Given the description of an element on the screen output the (x, y) to click on. 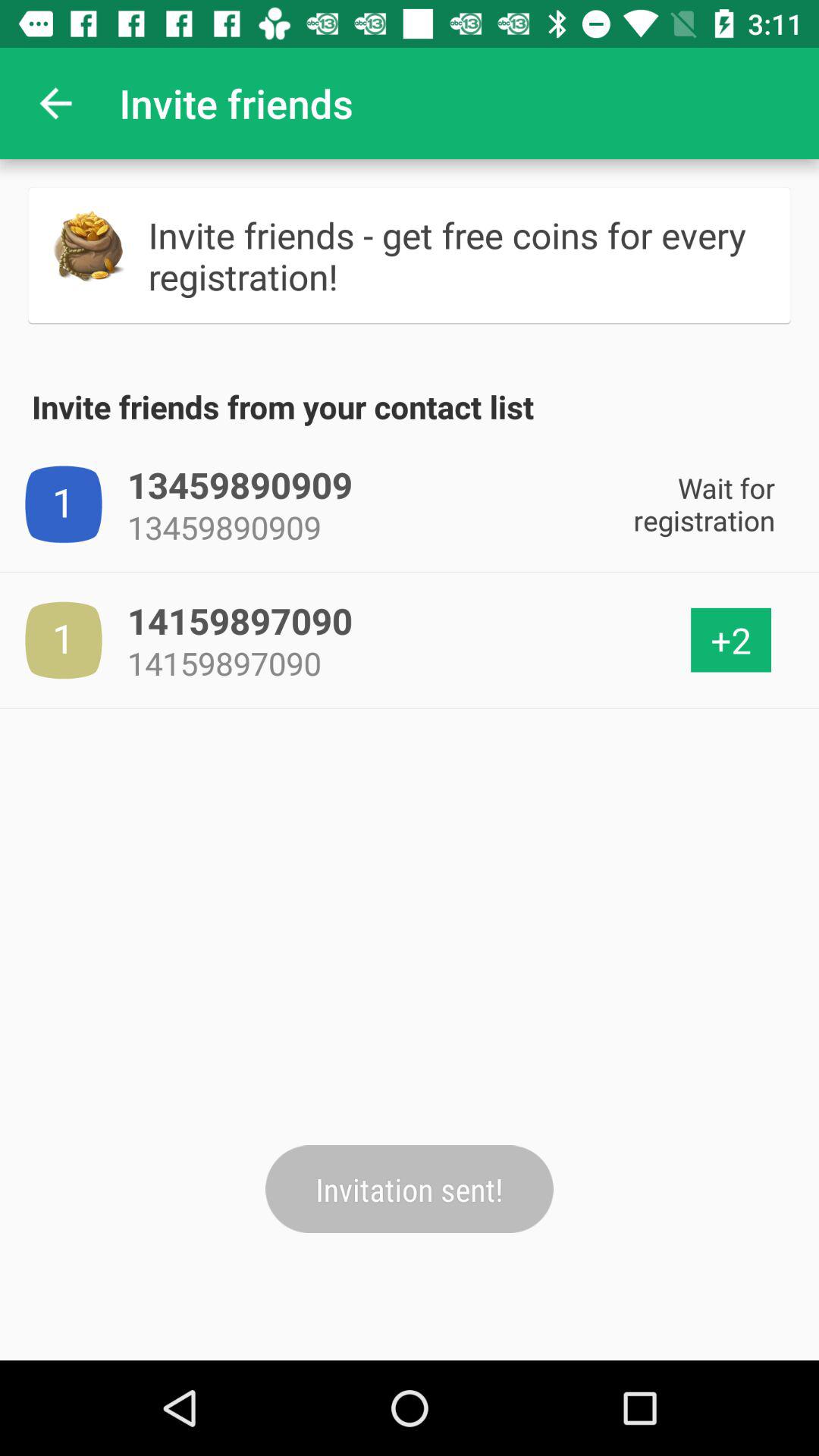
click app next to invite friends (55, 103)
